Given the description of an element on the screen output the (x, y) to click on. 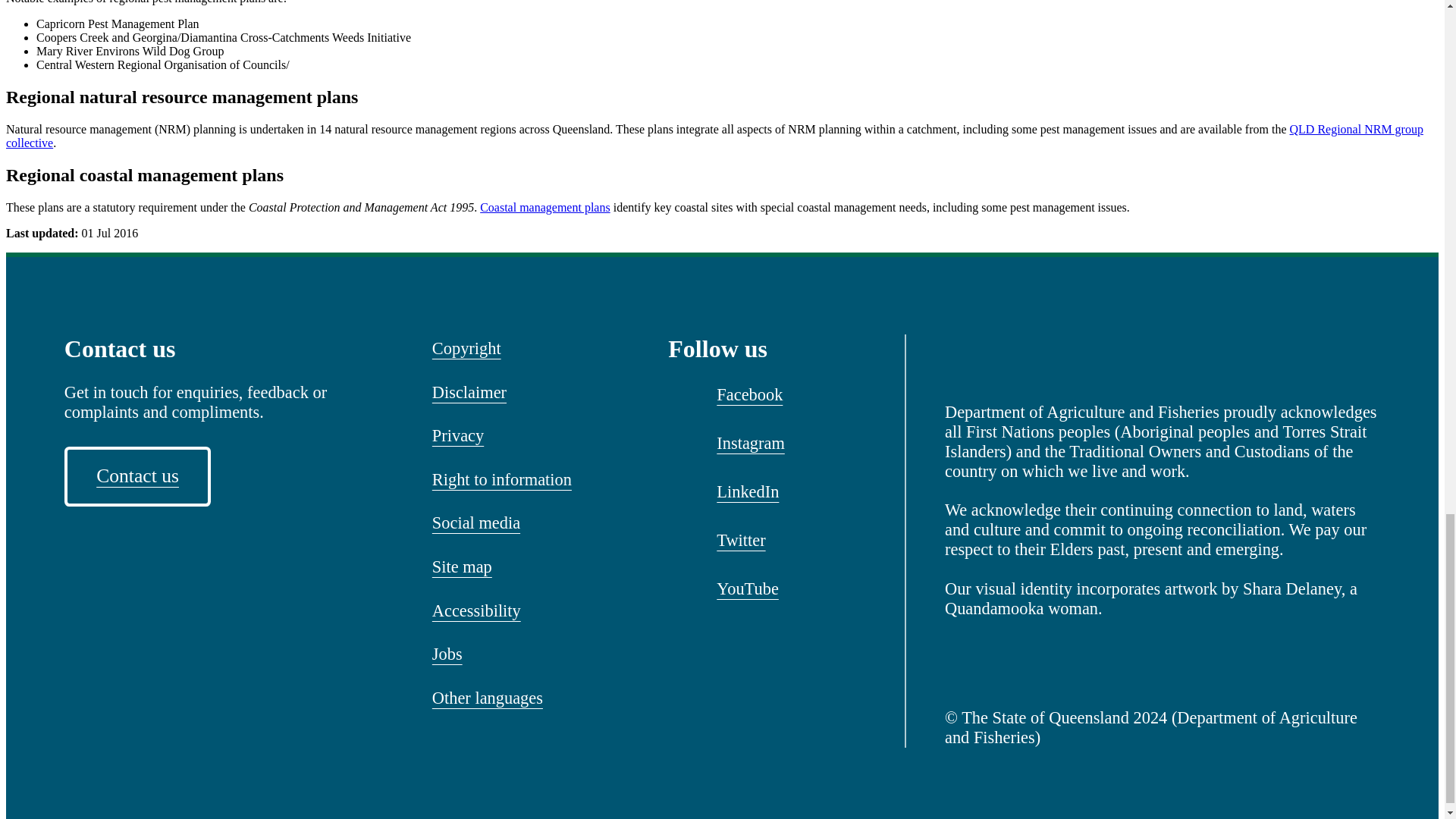
Site map (462, 566)
QLD Regional NRM group collective (714, 135)
Disclaimer (469, 392)
Contact us (137, 476)
Right to information (502, 480)
Accessibility (476, 611)
Privacy (457, 435)
Social media (475, 522)
Coastal management plans (545, 206)
Copyright (466, 348)
